Given the description of an element on the screen output the (x, y) to click on. 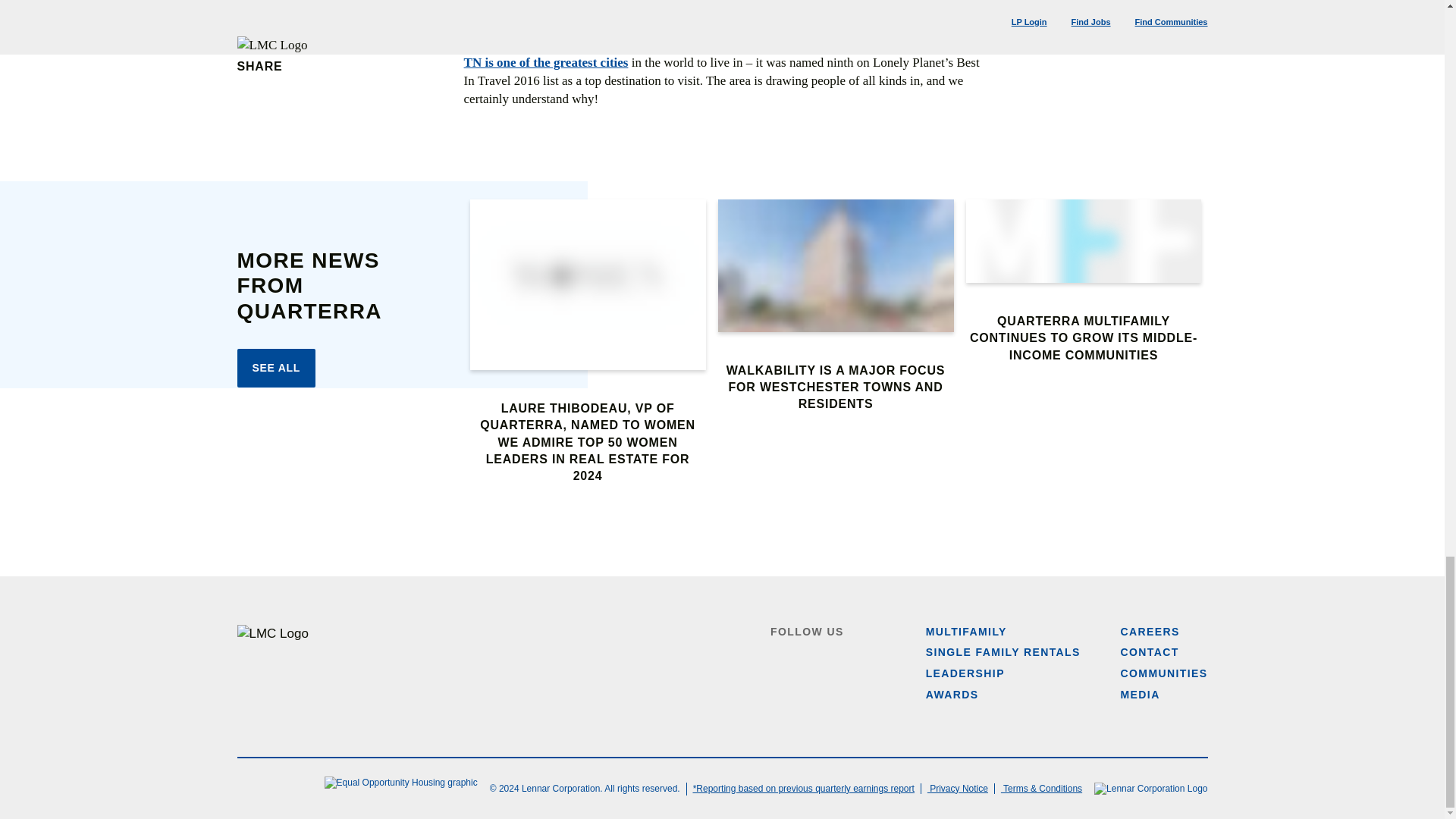
LEADERSHIP (965, 673)
AWARDS (952, 694)
CAREERS (1150, 631)
SEE ALL (275, 368)
MEDIA (1140, 694)
SINGLE FAMILY RENTALS (1003, 652)
COMMUNITIES (1164, 673)
MULTIFAMILY (966, 631)
Nashville, TN is one of the greatest cities (721, 53)
CONTACT (1150, 652)
